Given the description of an element on the screen output the (x, y) to click on. 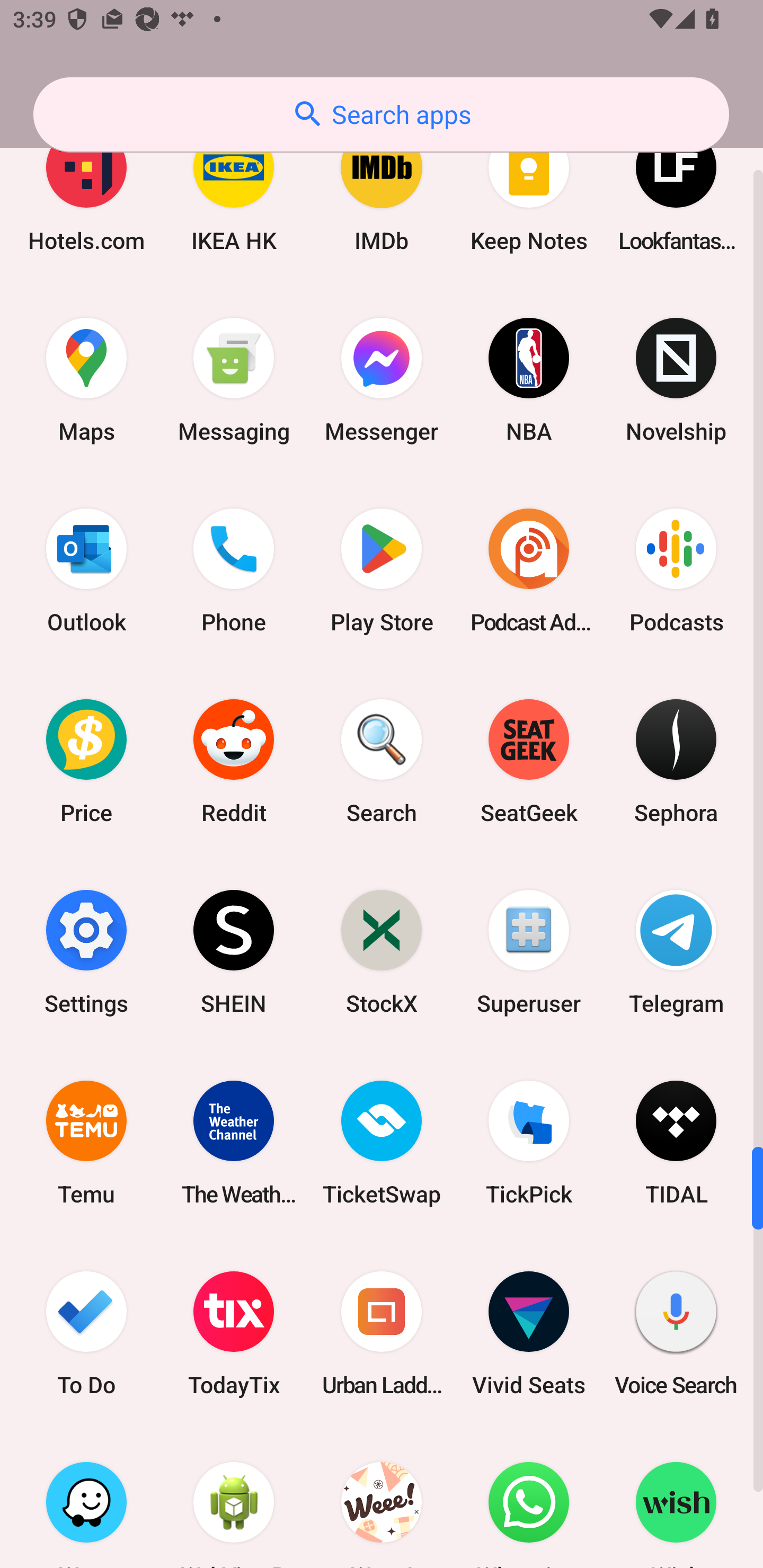
To Do (86, 1333)
